Given the description of an element on the screen output the (x, y) to click on. 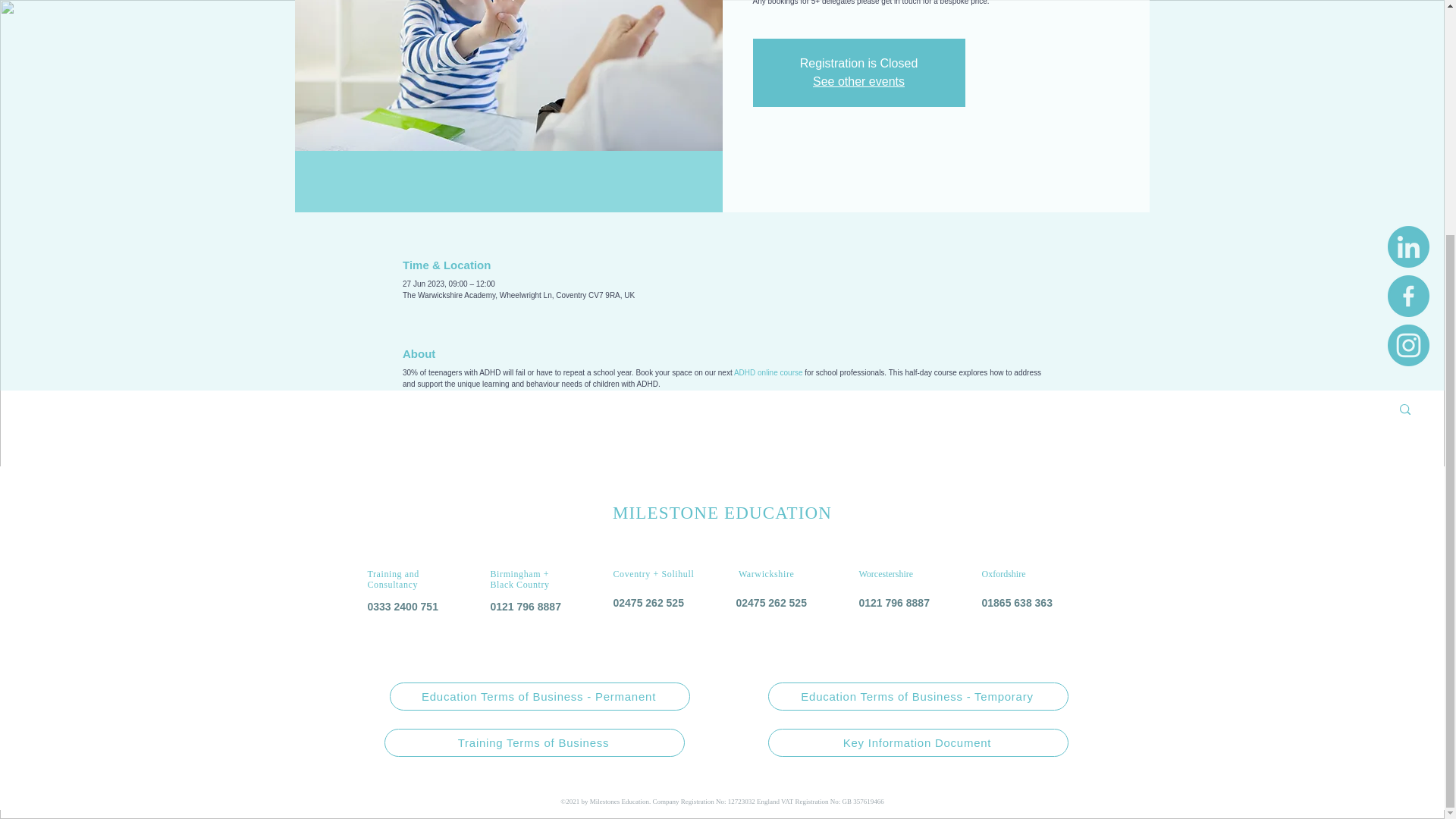
MILESTONE EDUCATION (721, 512)
Education Terms of Business - Temporary (917, 696)
Training Terms of Business (534, 742)
See other events (858, 81)
Key Information Document (917, 742)
ADHD online course (768, 372)
Education Terms of Business - Permanent (540, 696)
